Given the description of an element on the screen output the (x, y) to click on. 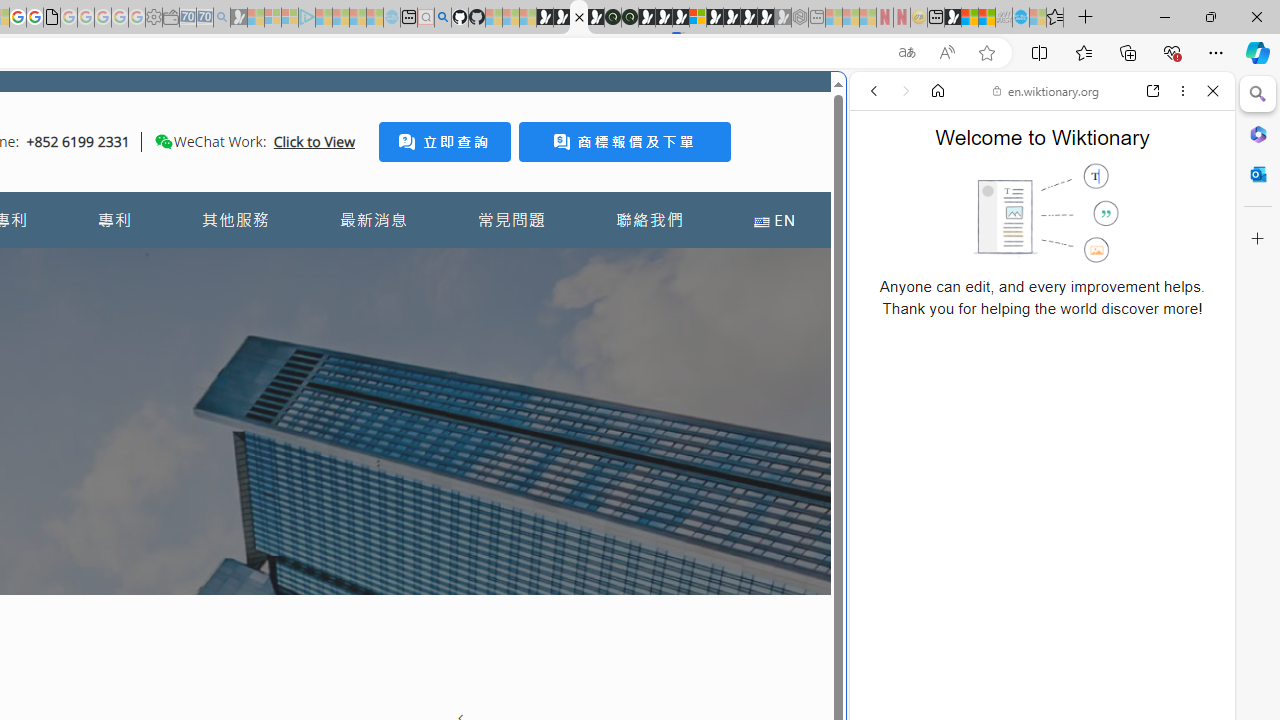
Earth has six continents not seven, radical new study claims (986, 17)
Future Focus Report 2024 (629, 17)
Close split screen (844, 102)
